Given the description of an element on the screen output the (x, y) to click on. 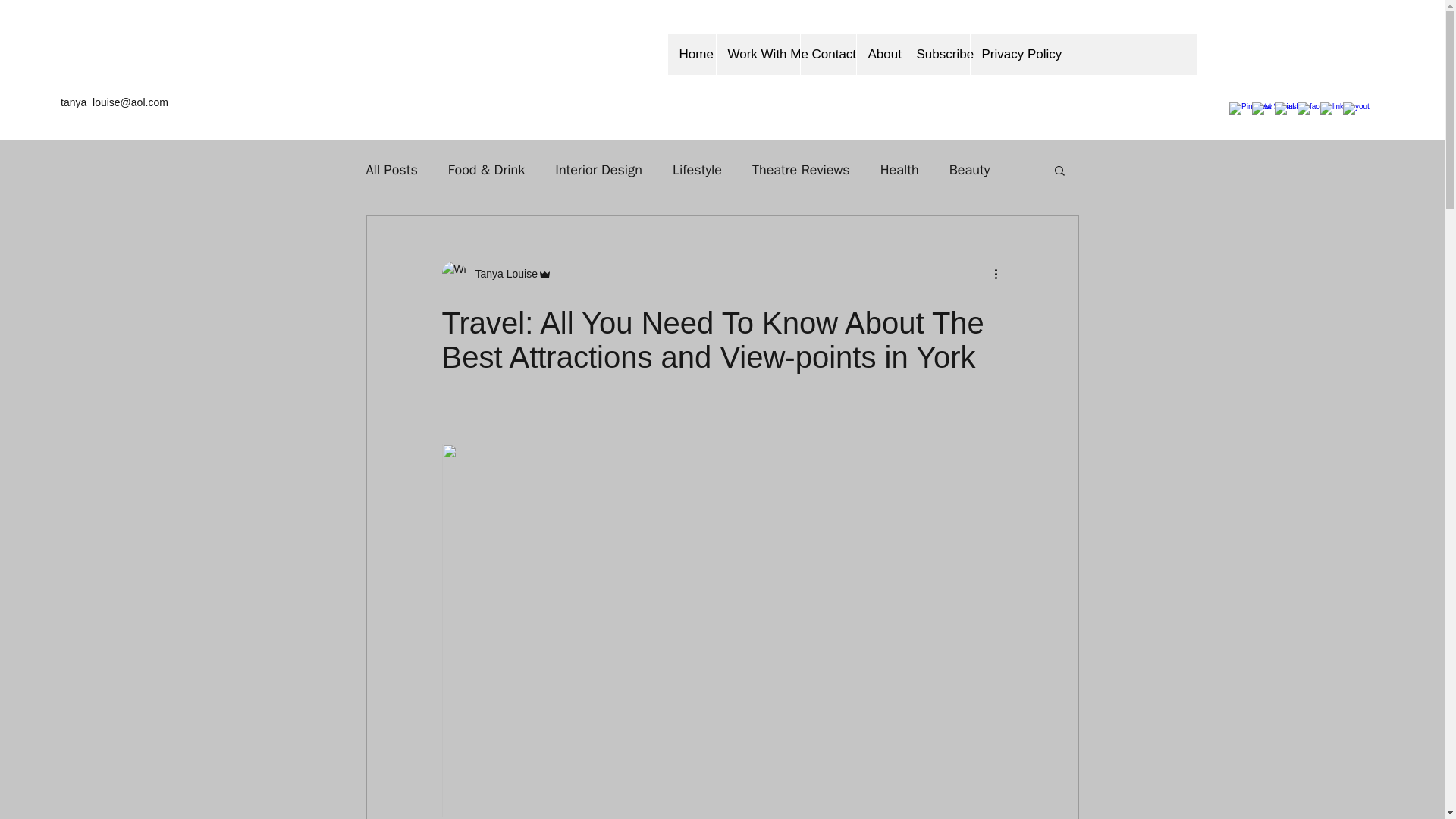
Tanya Louise (501, 273)
Home (690, 54)
Privacy Policy (1010, 54)
Theatre Reviews (801, 169)
Contact (827, 54)
Lifestyle (697, 169)
About (880, 54)
Work With Me (757, 54)
All Posts (390, 169)
Beauty (969, 169)
